Given the description of an element on the screen output the (x, y) to click on. 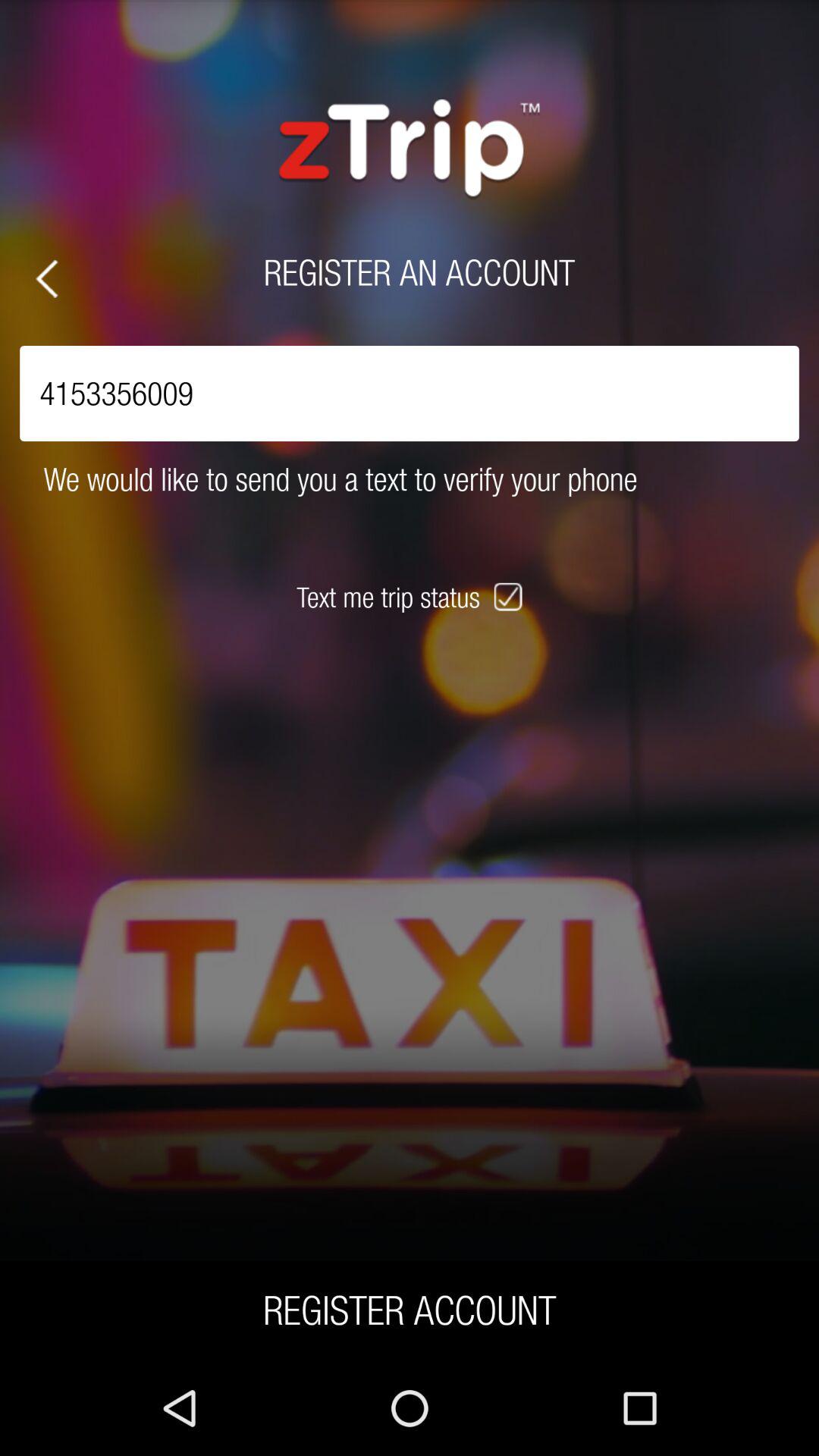
swipe to 4153356009 icon (409, 393)
